Given the description of an element on the screen output the (x, y) to click on. 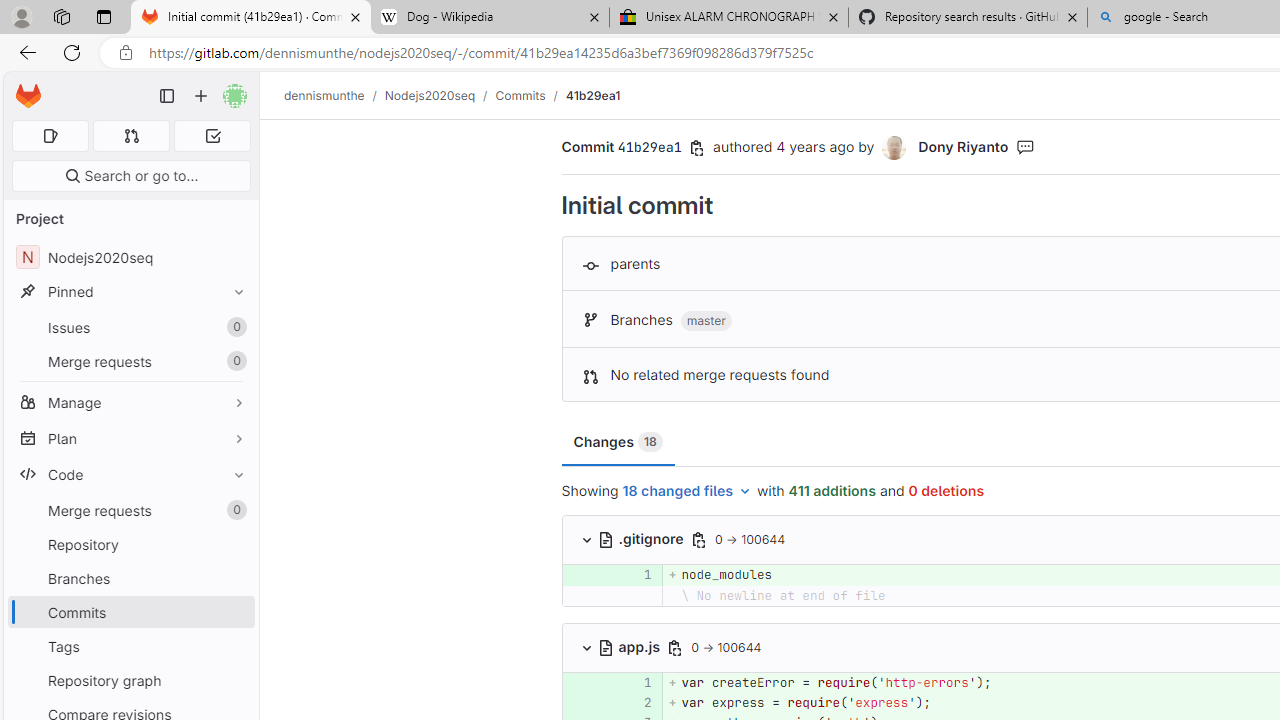
Changes 18 (617, 442)
Pin Repository (234, 544)
Plan (130, 438)
Add a comment to this line (562, 701)
View site information (125, 53)
1 (633, 681)
Manage (130, 402)
Commits (130, 612)
2 (637, 701)
Repository (130, 543)
Class: s16 gl-icon gl-button-icon  (674, 647)
app.js  (630, 646)
Add a comment to this line  (587, 701)
Primary navigation sidebar (167, 96)
